Given the description of an element on the screen output the (x, y) to click on. 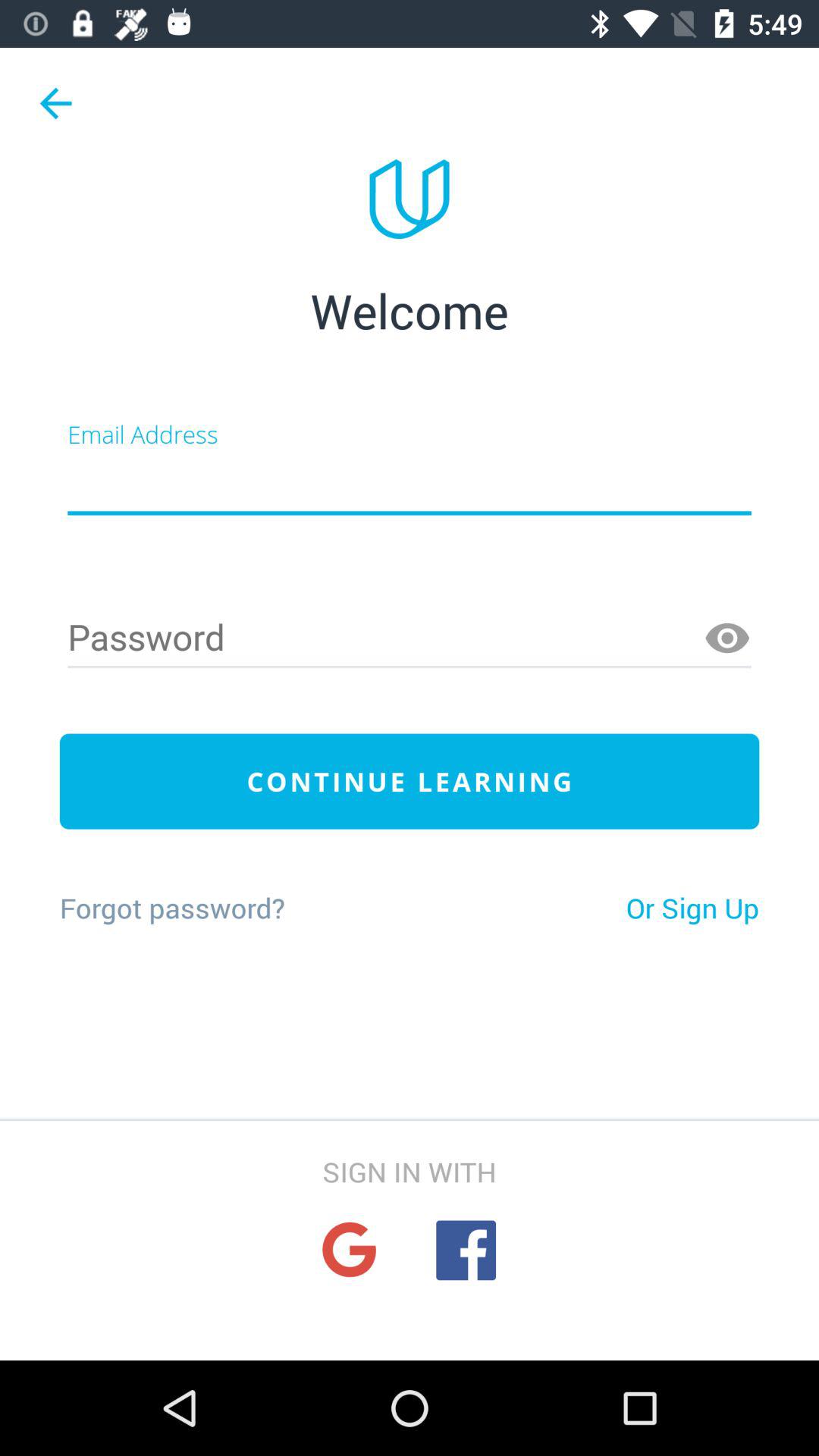
toggle password (409, 638)
